Given the description of an element on the screen output the (x, y) to click on. 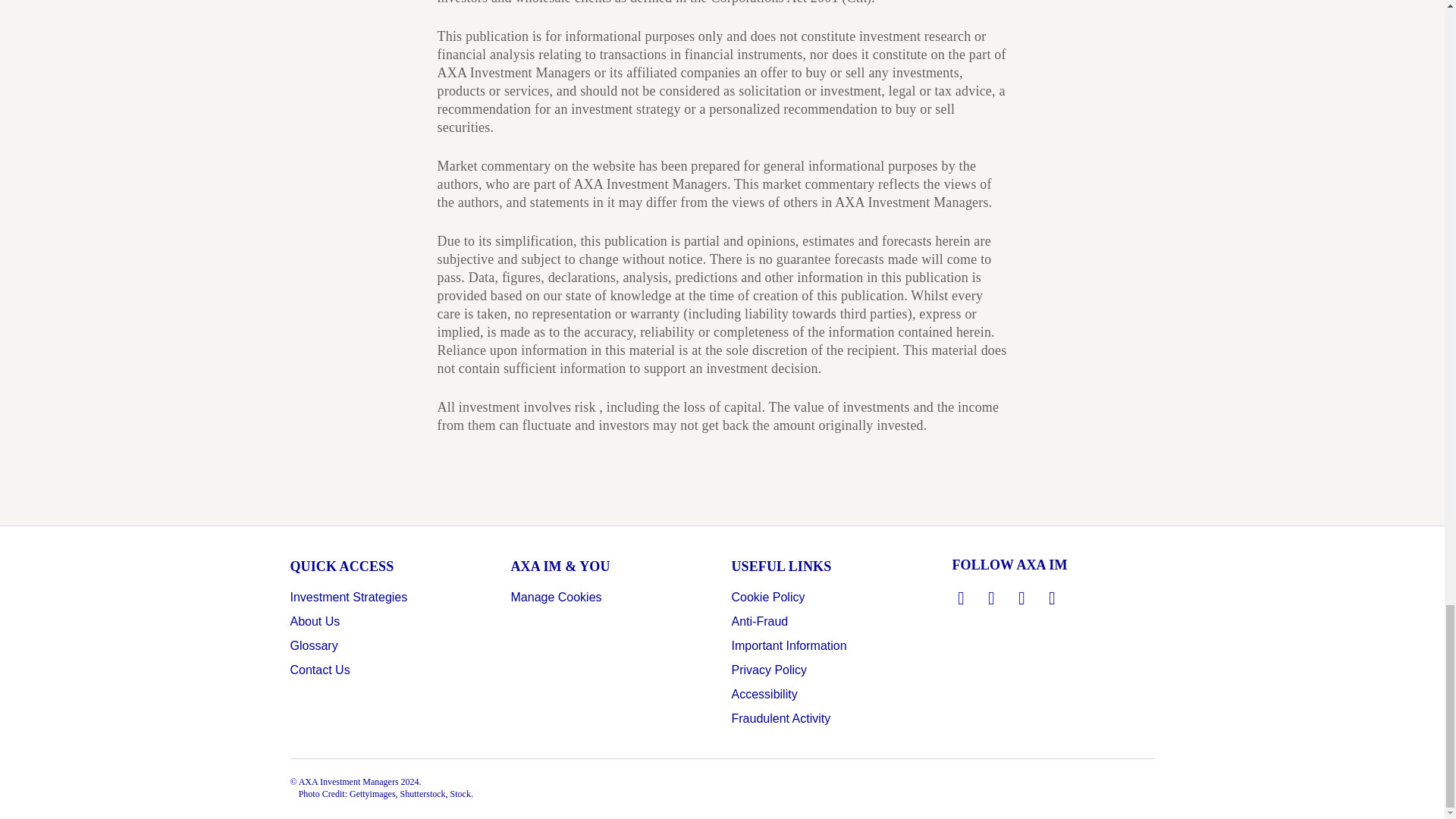
Follow us on LinkedIn (961, 597)
Follow us on Twitter (991, 597)
Follow us on Facebook (1021, 597)
Follow us on Youtube (1052, 597)
